Given the description of an element on the screen output the (x, y) to click on. 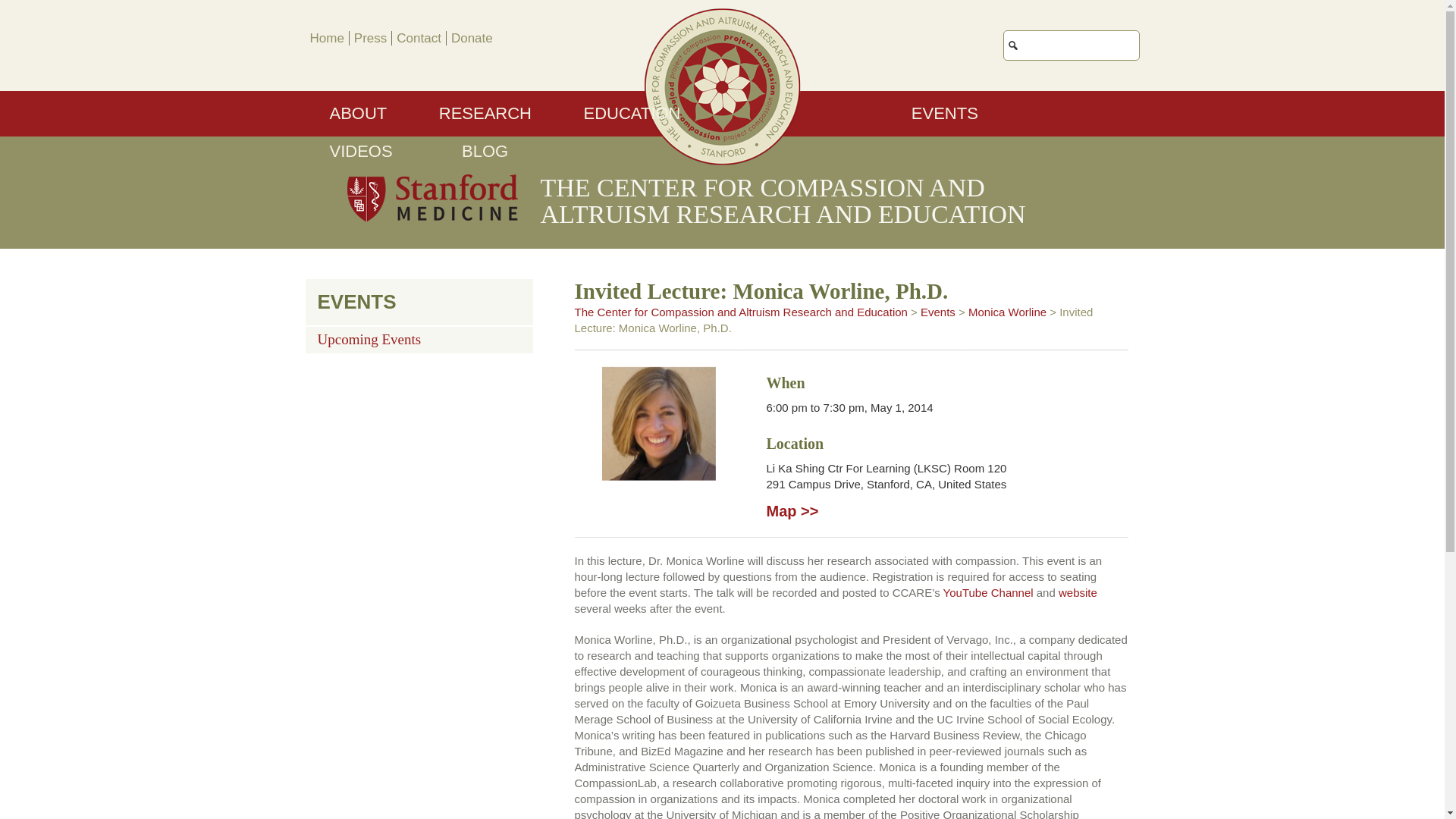
Donate (471, 38)
Home (326, 38)
RESEARCH (485, 113)
Search (1189, 37)
EVENTS (944, 113)
BLOG (484, 151)
website (1077, 591)
YouTube Channel (988, 591)
